Given the description of an element on the screen output the (x, y) to click on. 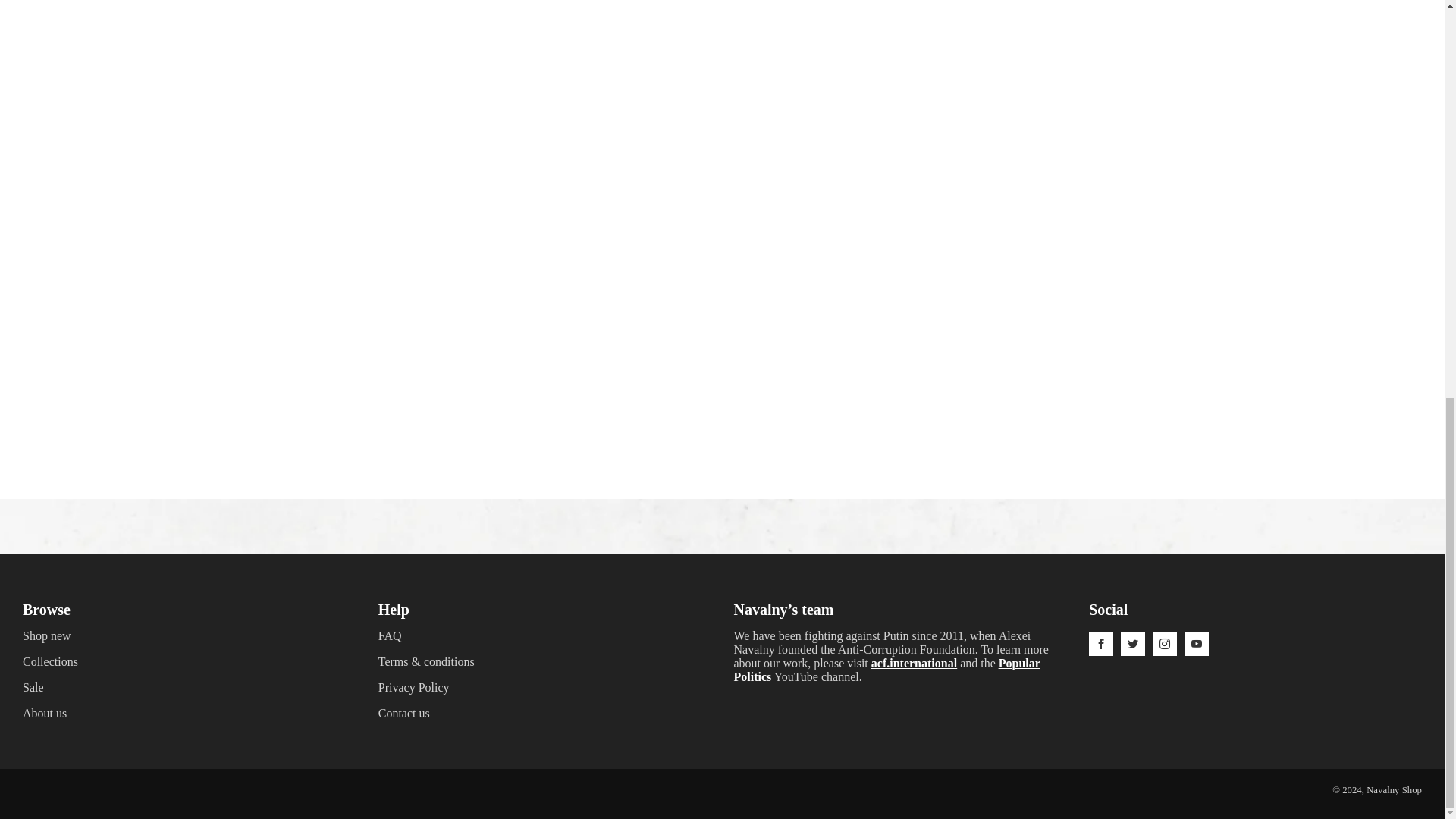
Collections (50, 661)
Shop new (47, 635)
Popular Politics (887, 669)
Sale (33, 686)
